Given the description of an element on the screen output the (x, y) to click on. 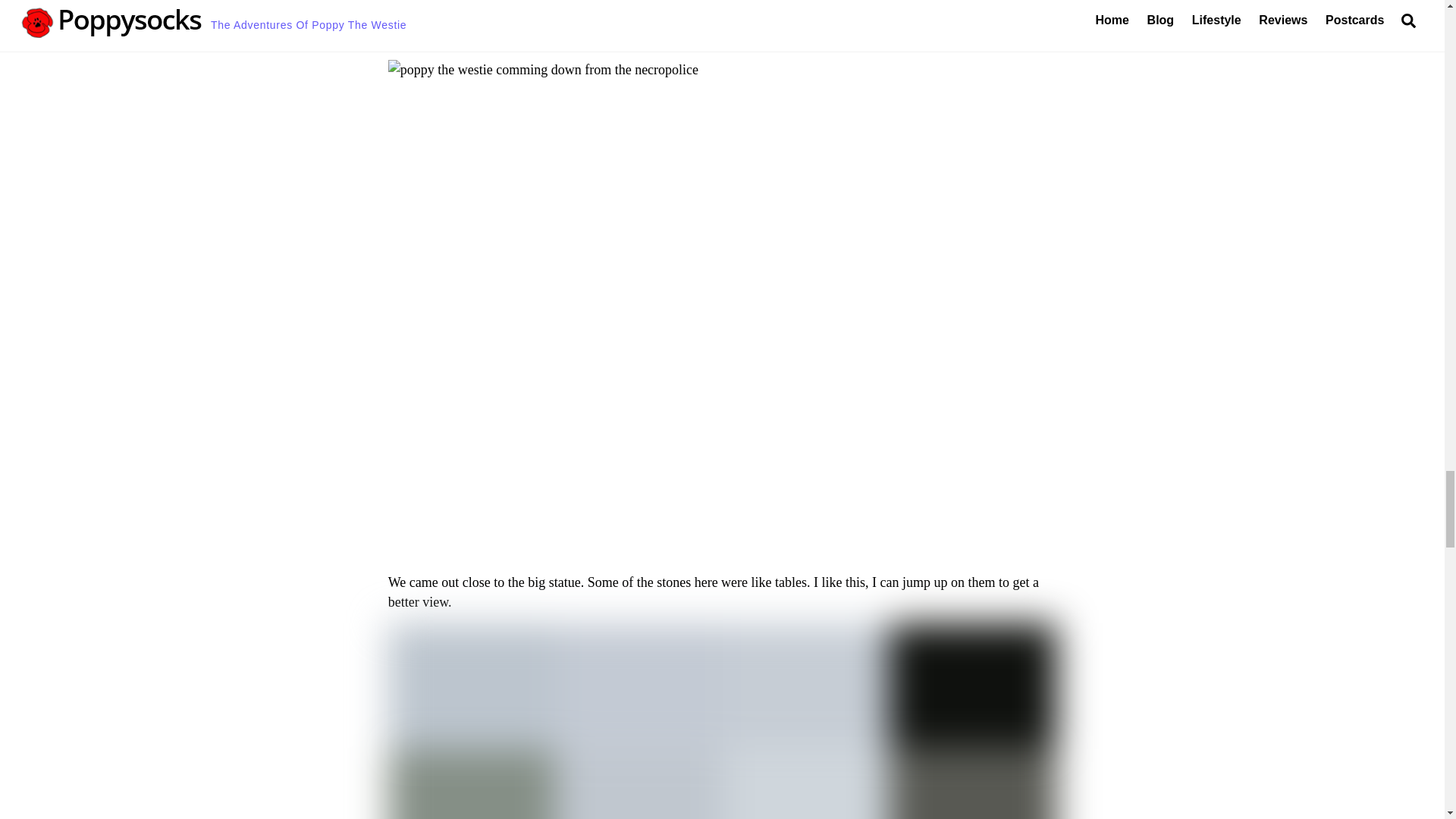
poppy the westie leading the way (722, 8)
poppy the westie on veiwing platform 2 (722, 721)
